Given the description of an element on the screen output the (x, y) to click on. 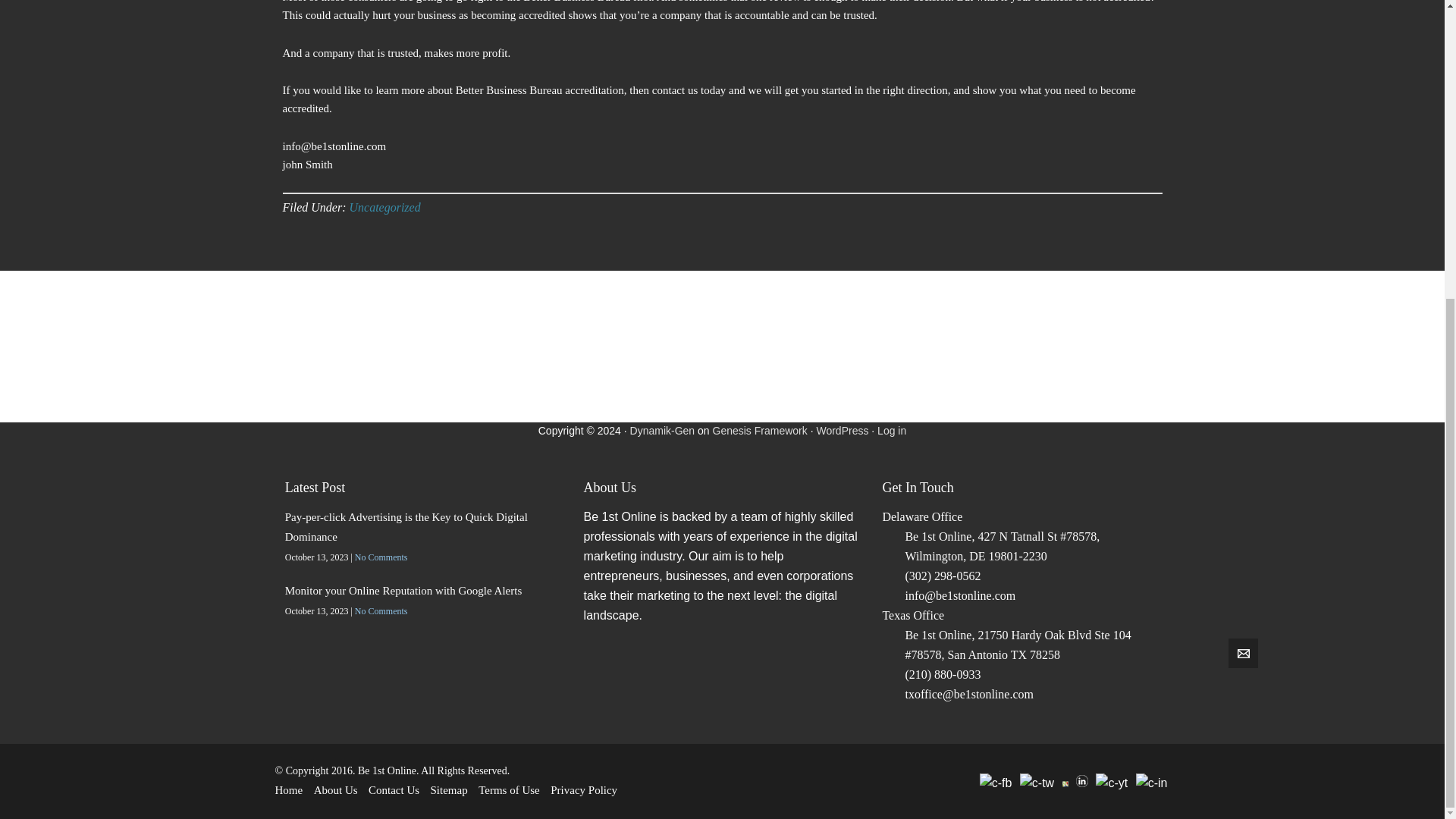
Uncategorized (384, 206)
WordPress (841, 430)
Be 1st Online. (388, 770)
Genesis Framework (760, 430)
Home (288, 789)
Dynamik-Gen (662, 430)
Monitor your Online Reputation with Google Alerts (403, 590)
Log in (891, 430)
